Given the description of an element on the screen output the (x, y) to click on. 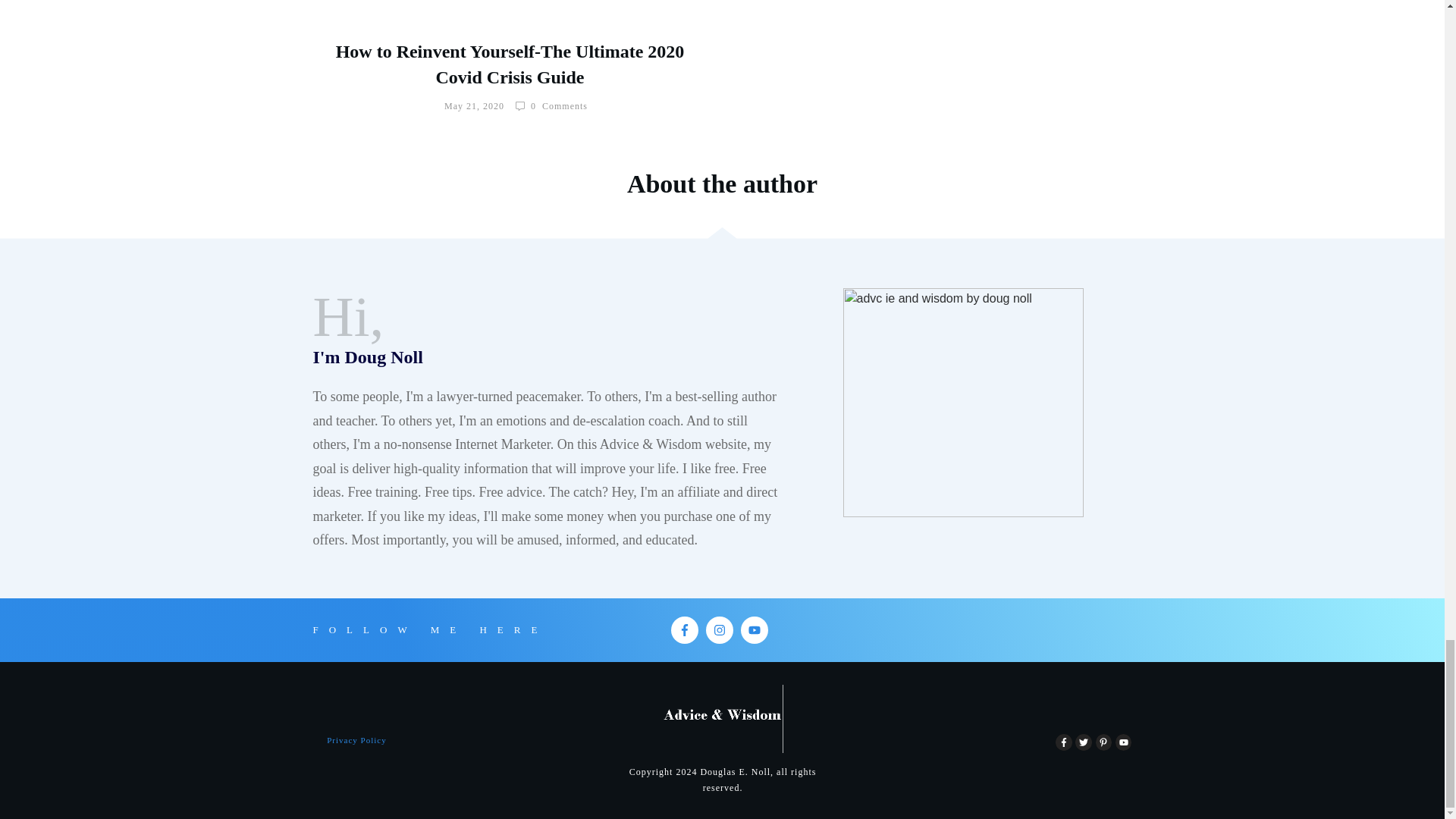
Doug Noll (963, 402)
